Given the description of an element on the screen output the (x, y) to click on. 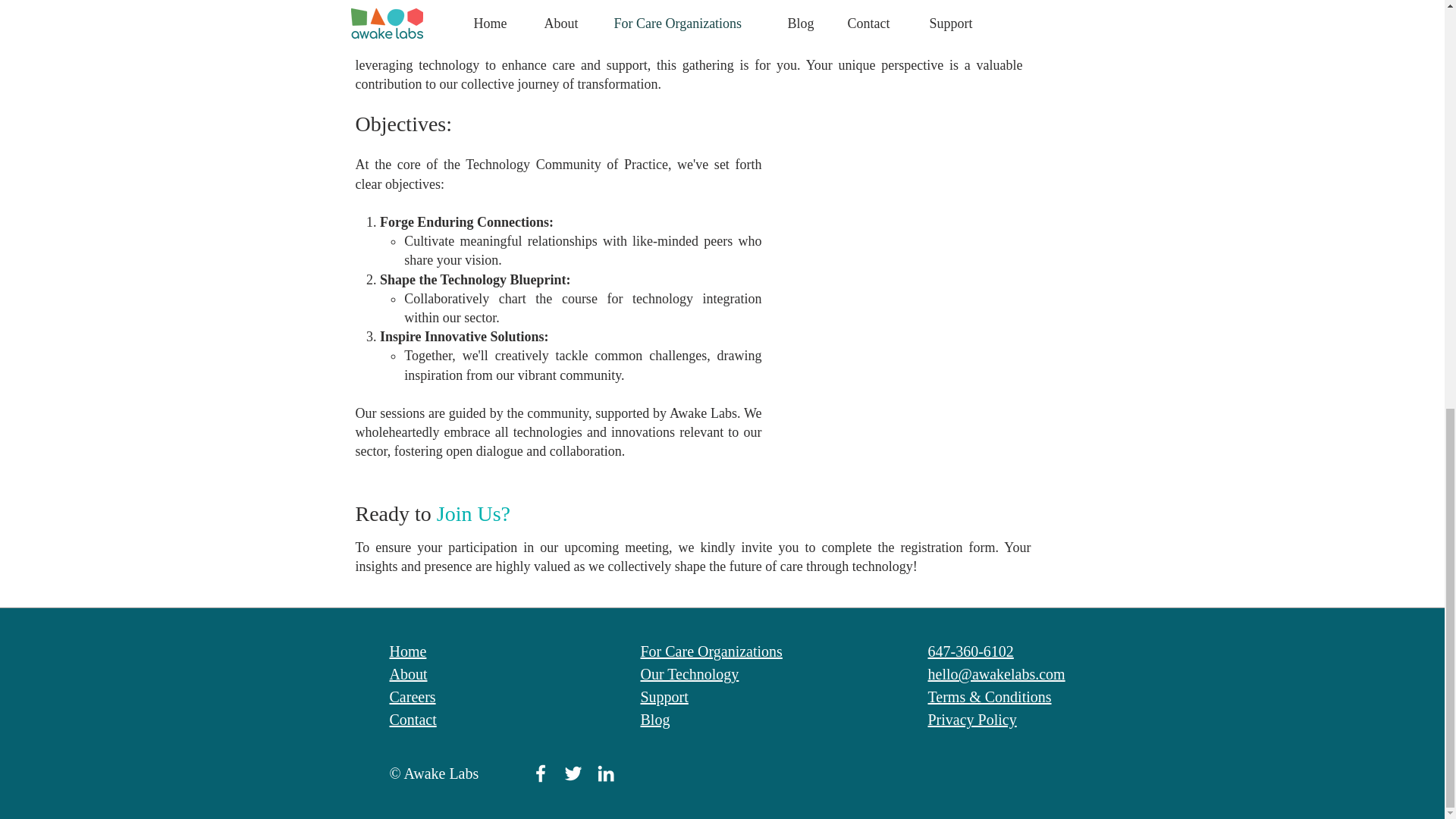
Our Technology (689, 673)
Support (663, 696)
Careers (412, 696)
Privacy Policy (972, 719)
About (409, 673)
For Care Organizations (710, 651)
Home (408, 651)
647-360-6102 (970, 651)
Contact (413, 719)
